Given the description of an element on the screen output the (x, y) to click on. 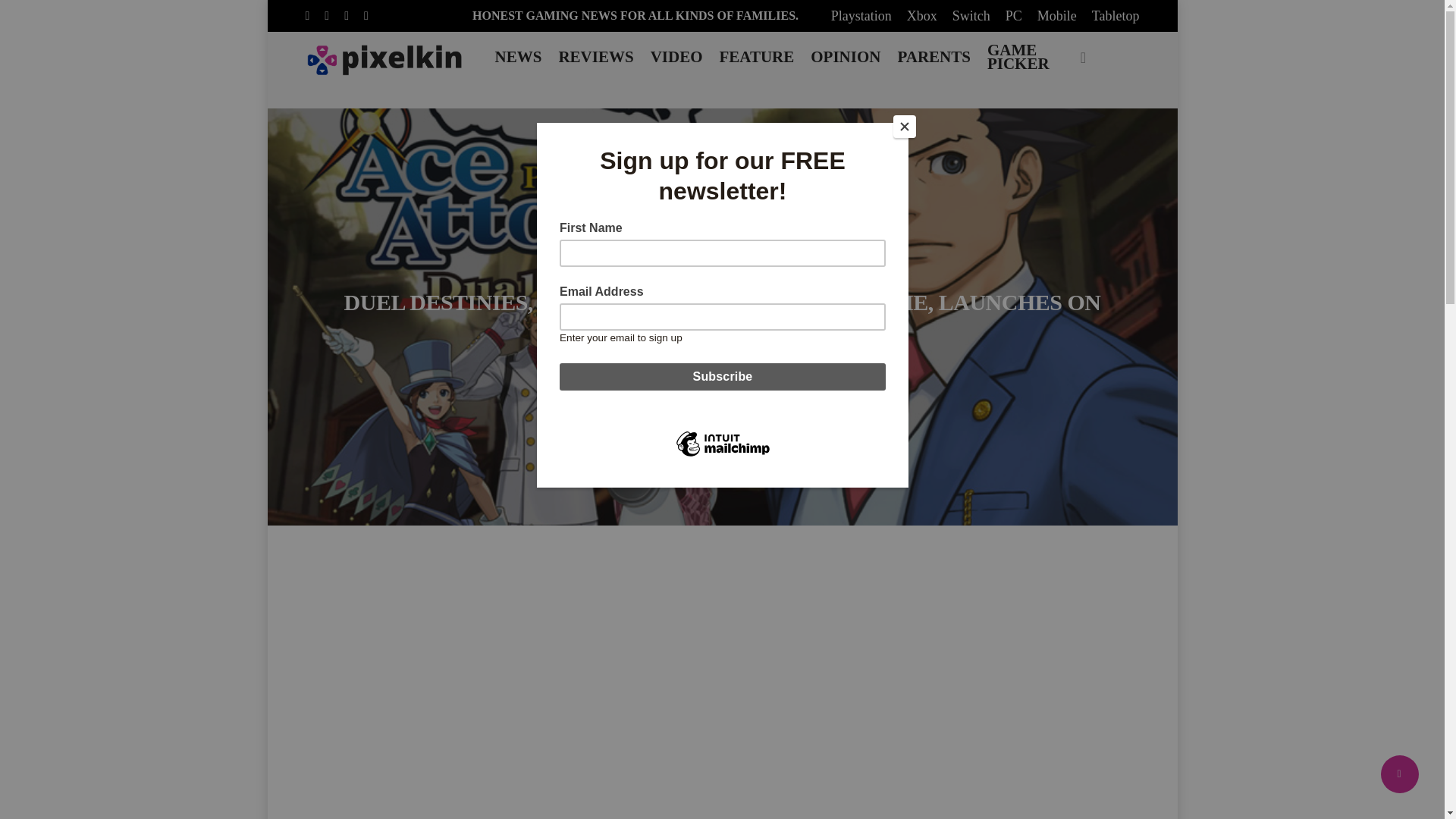
Tabletop (1116, 15)
Xbox (922, 15)
GAME PICKER (1018, 56)
News (751, 264)
OPINION (844, 56)
NEWS (519, 56)
Switch (971, 15)
No Comments (771, 371)
REVIEWS (595, 56)
VIDEO (676, 56)
